Given the description of an element on the screen output the (x, y) to click on. 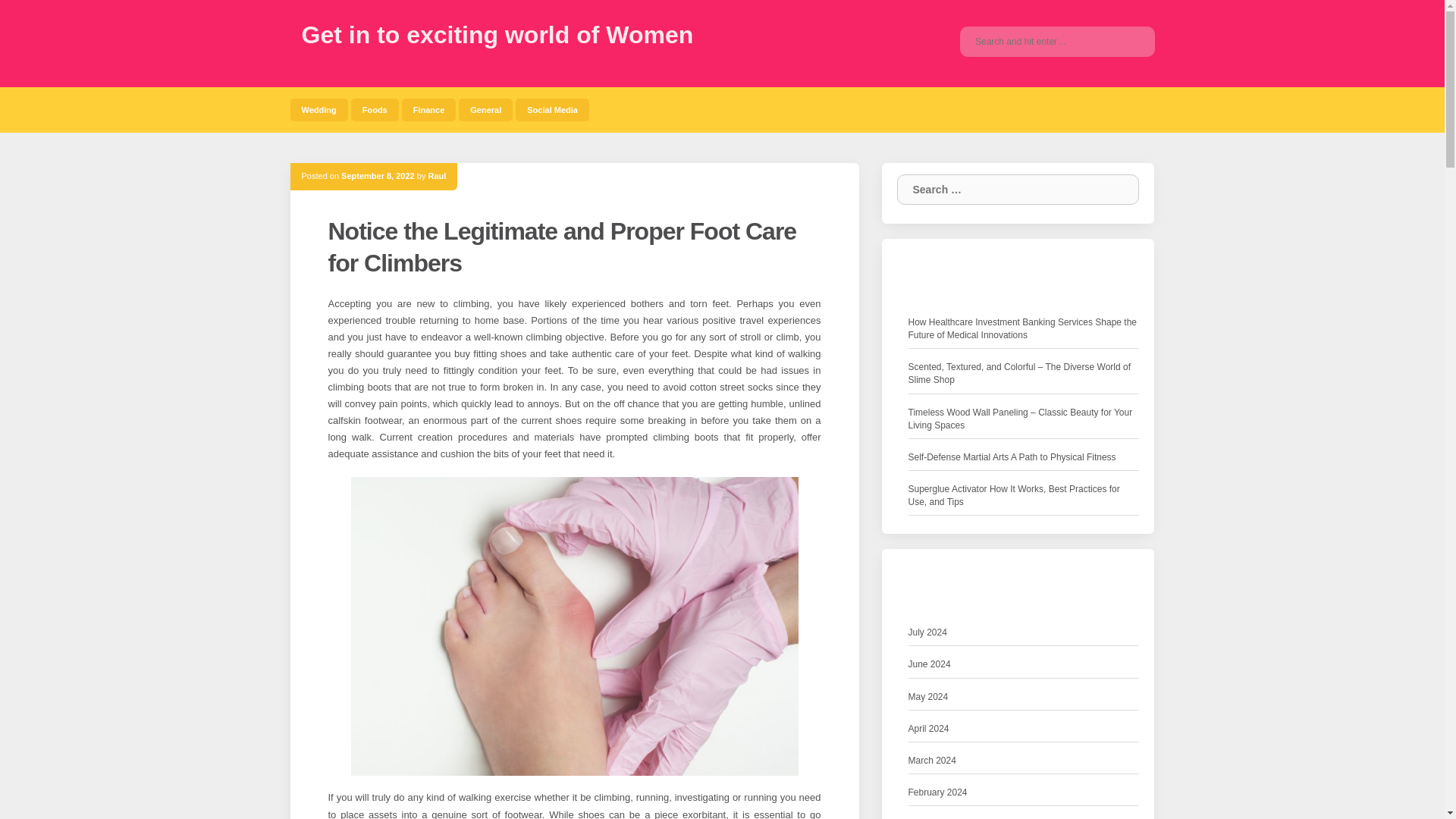
Search (1115, 189)
Social Media (552, 109)
July 2024 (927, 632)
September 8, 2022 (377, 175)
General (485, 109)
April 2024 (928, 729)
General (485, 109)
Self-Defense Martial Arts A Path to Physical Fitness (1012, 457)
Get in to exciting world of Women (497, 34)
Search (1131, 41)
